Given the description of an element on the screen output the (x, y) to click on. 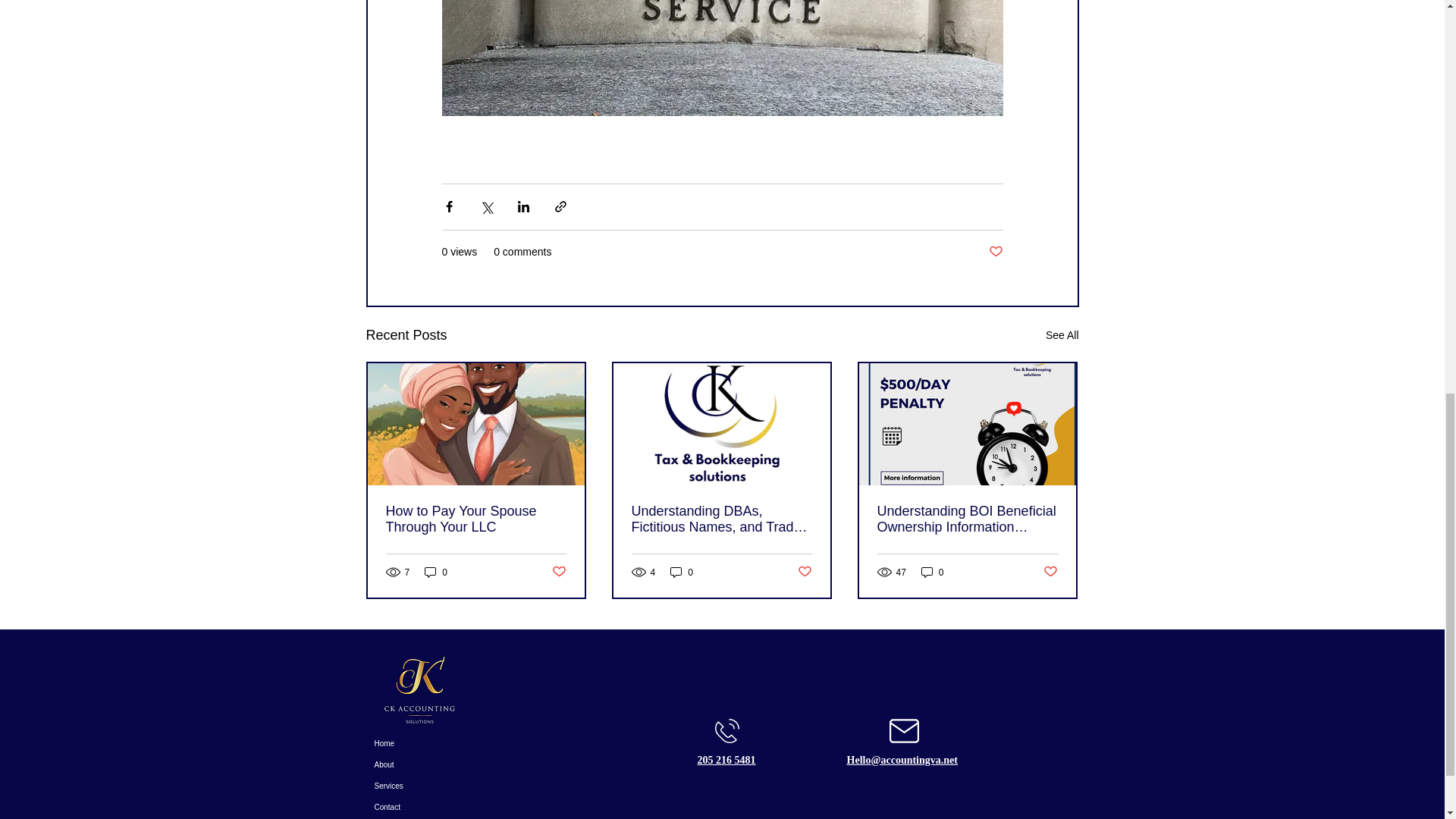
0 (435, 572)
Understanding BOI Beneficial Ownership Information Reporting (966, 519)
Post not marked as liked (804, 571)
0 (932, 572)
How to Pay Your Spouse Through Your LLC (475, 519)
Post not marked as liked (995, 252)
Post not marked as liked (558, 571)
See All (1061, 335)
Post not marked as liked (1050, 571)
